Given the description of an element on the screen output the (x, y) to click on. 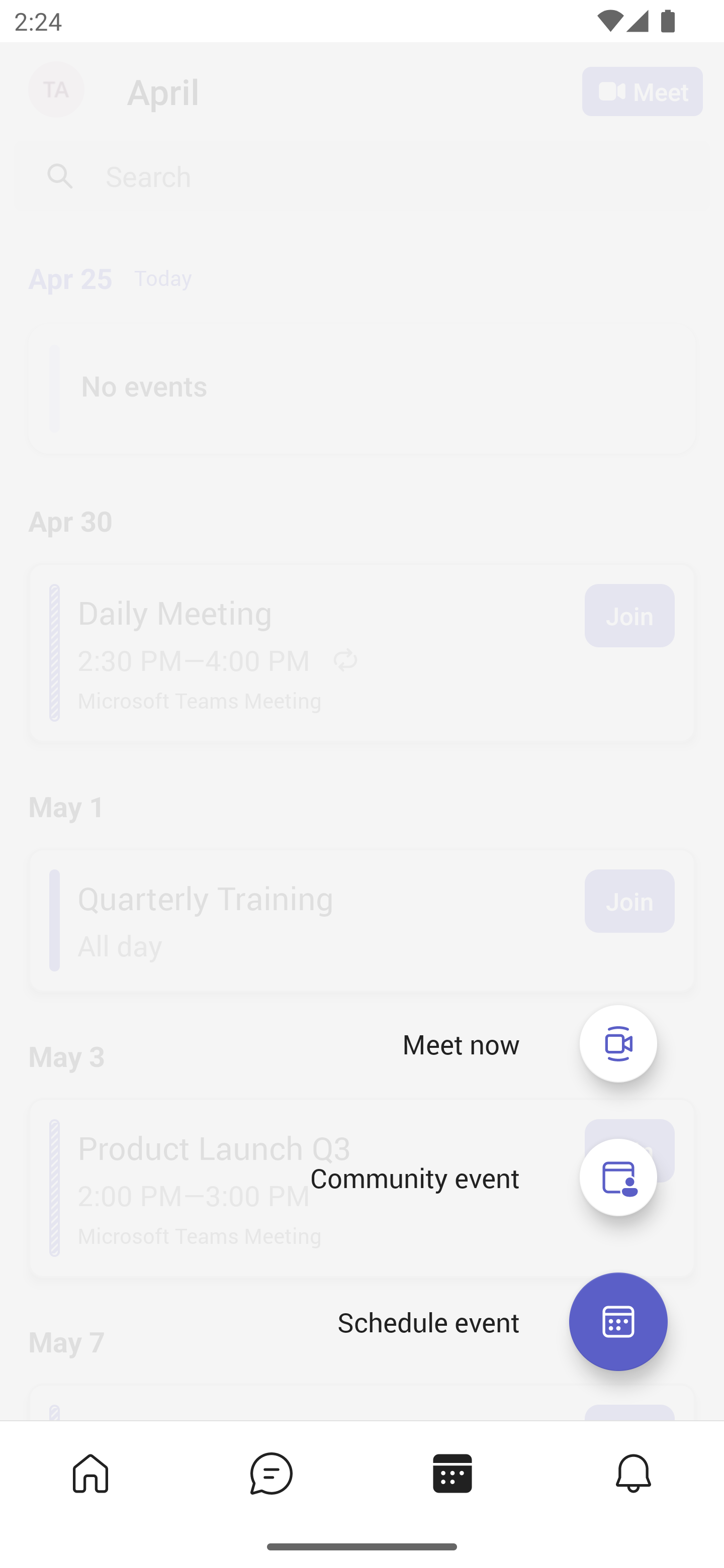
Meet now (618, 1043)
Meet now (461, 1044)
Community event (618, 1177)
Community event (414, 1177)
Schedule event (618, 1321)
Schedule event (428, 1321)
Home tab,1 of 4, not selected (90, 1472)
Chat tab,2 of 4, not selected (271, 1472)
Calendar tab, 3 of 4 (452, 1472)
Activity tab,4 of 4, not selected (633, 1472)
